Given the description of an element on the screen output the (x, y) to click on. 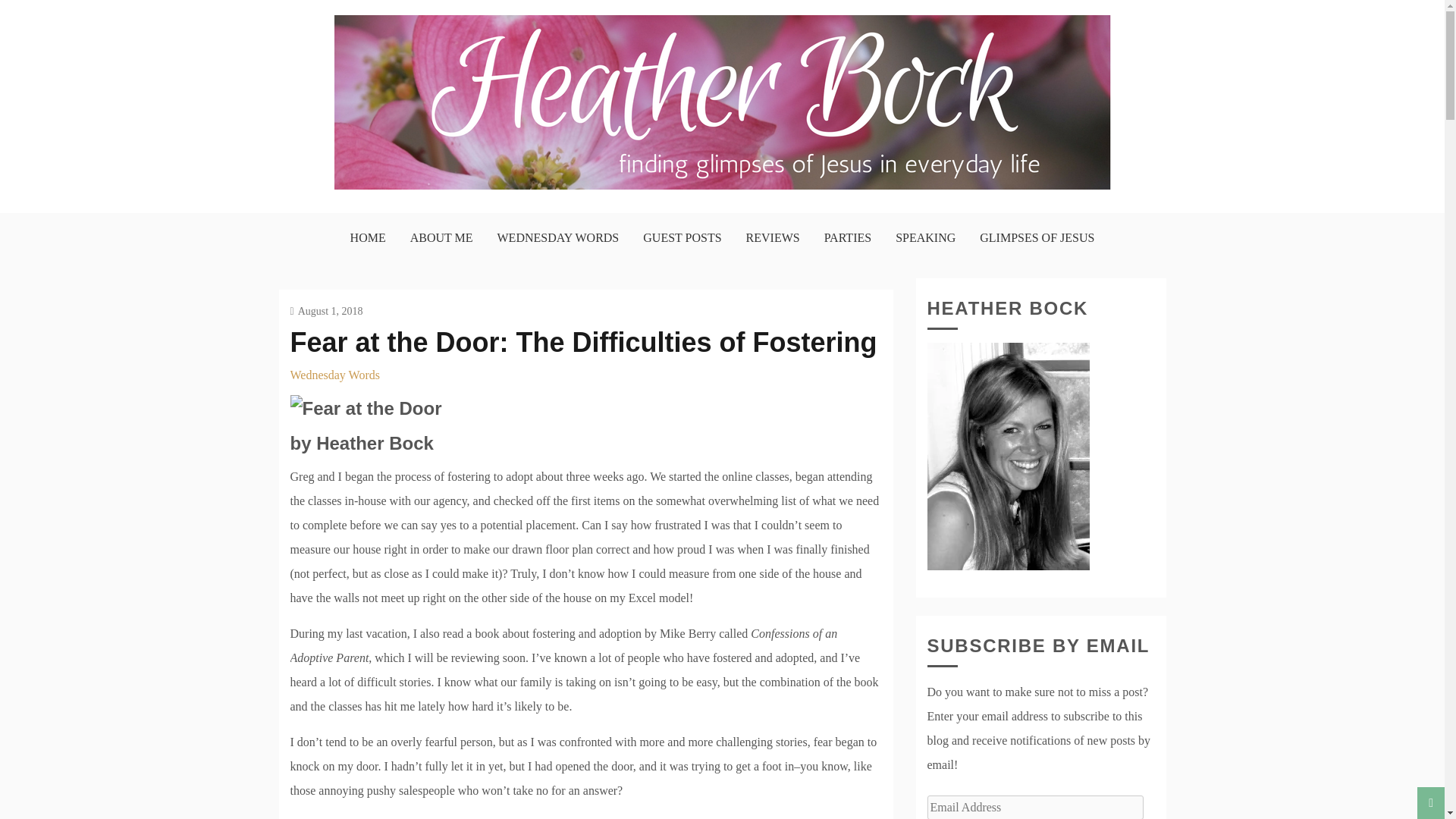
August 1, 2018 (325, 310)
Wednesday Words (333, 374)
WEDNESDAY WORDS (558, 237)
SPEAKING (925, 237)
GUEST POSTS (681, 237)
PARTIES (847, 237)
GLIMPSES OF JESUS (1036, 237)
ABOUT ME (441, 237)
REVIEWS (772, 237)
